Given the description of an element on the screen output the (x, y) to click on. 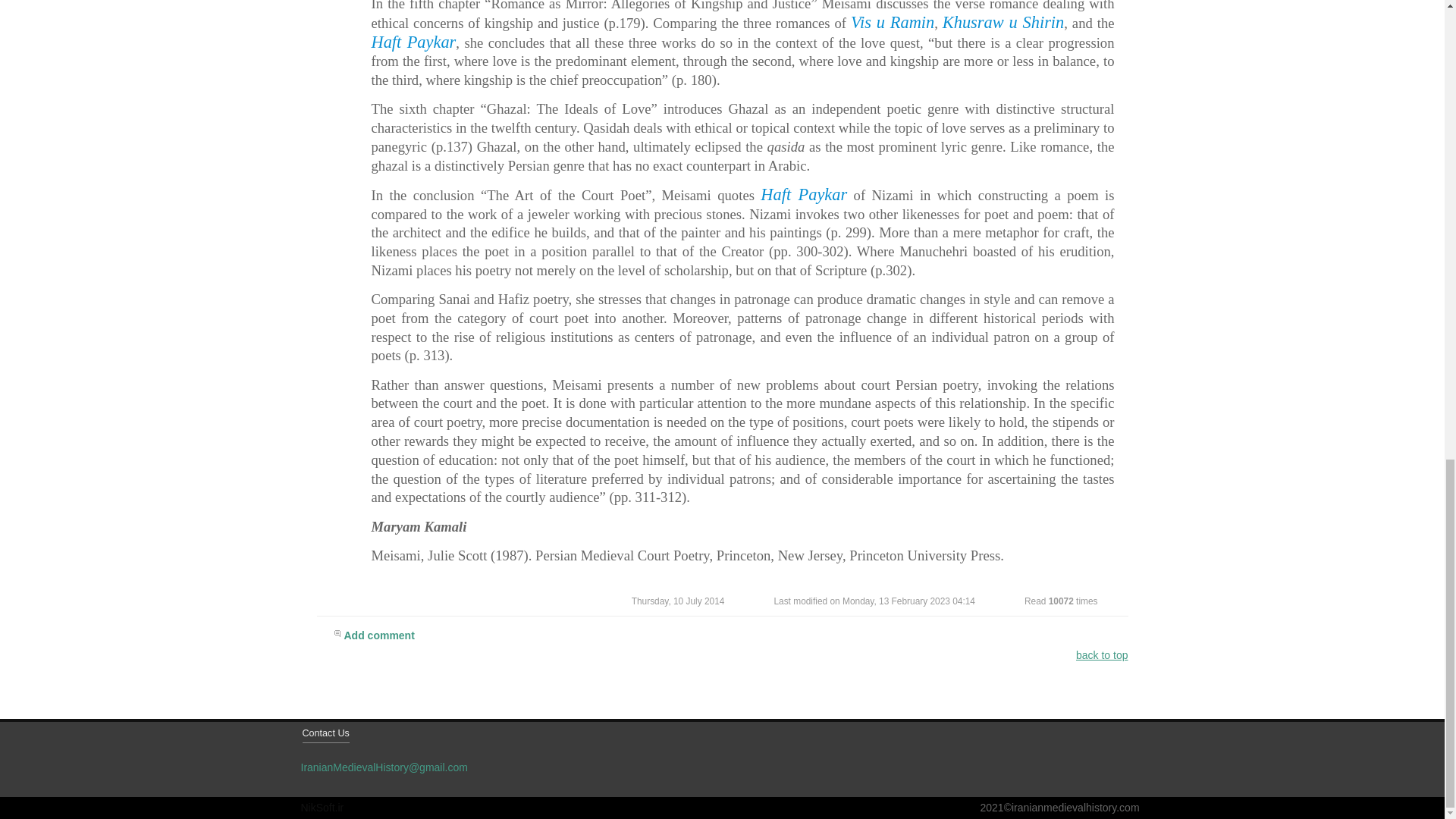
Add comment (730, 637)
back to top (1101, 654)
NikSoft.ir (321, 807)
